Given the description of an element on the screen output the (x, y) to click on. 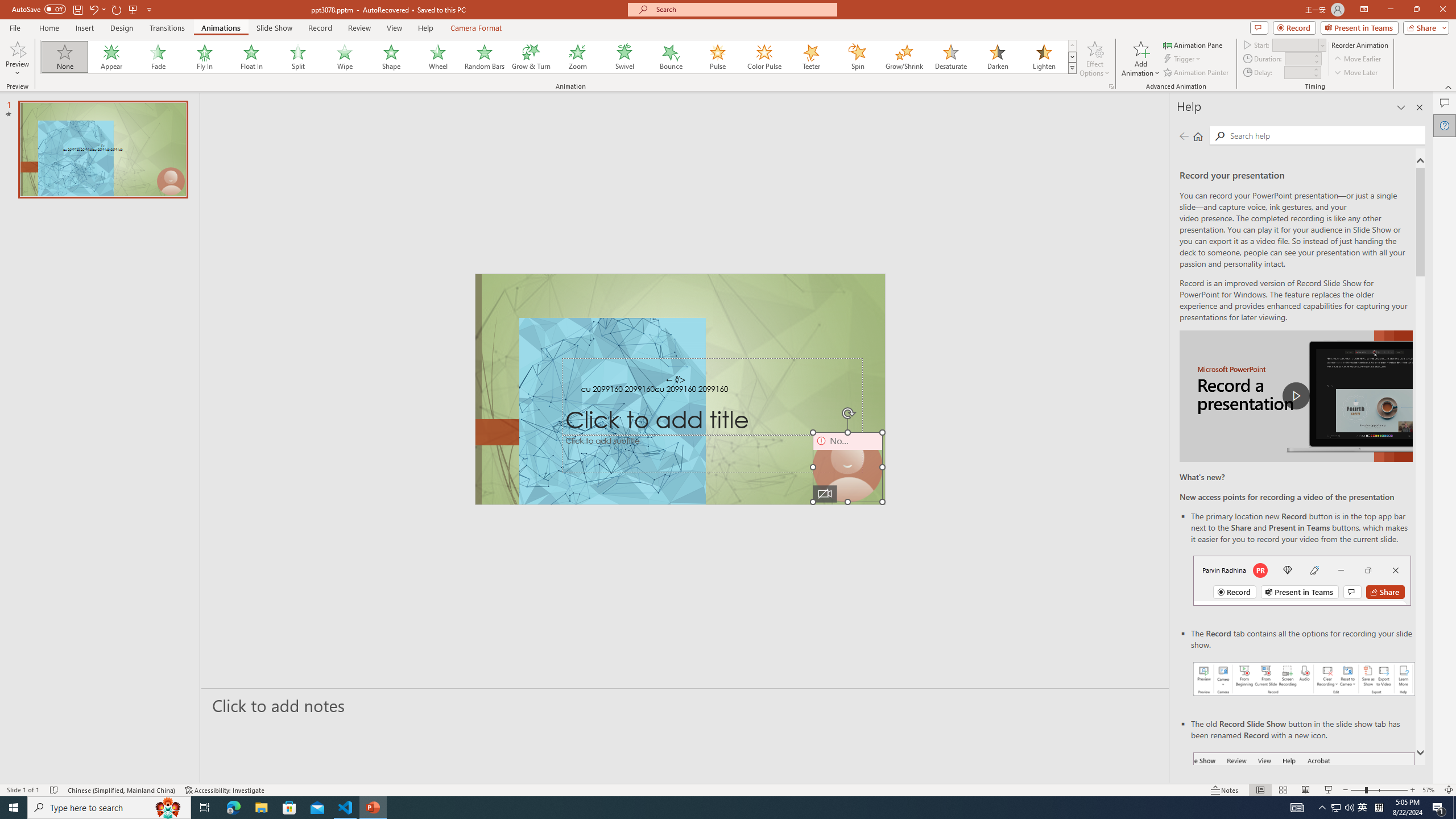
An abstract genetic concept (680, 389)
Darken (997, 56)
Add Animation (1141, 58)
Desaturate (950, 56)
Bounce (670, 56)
Animation Painter (1196, 72)
